Given the description of an element on the screen output the (x, y) to click on. 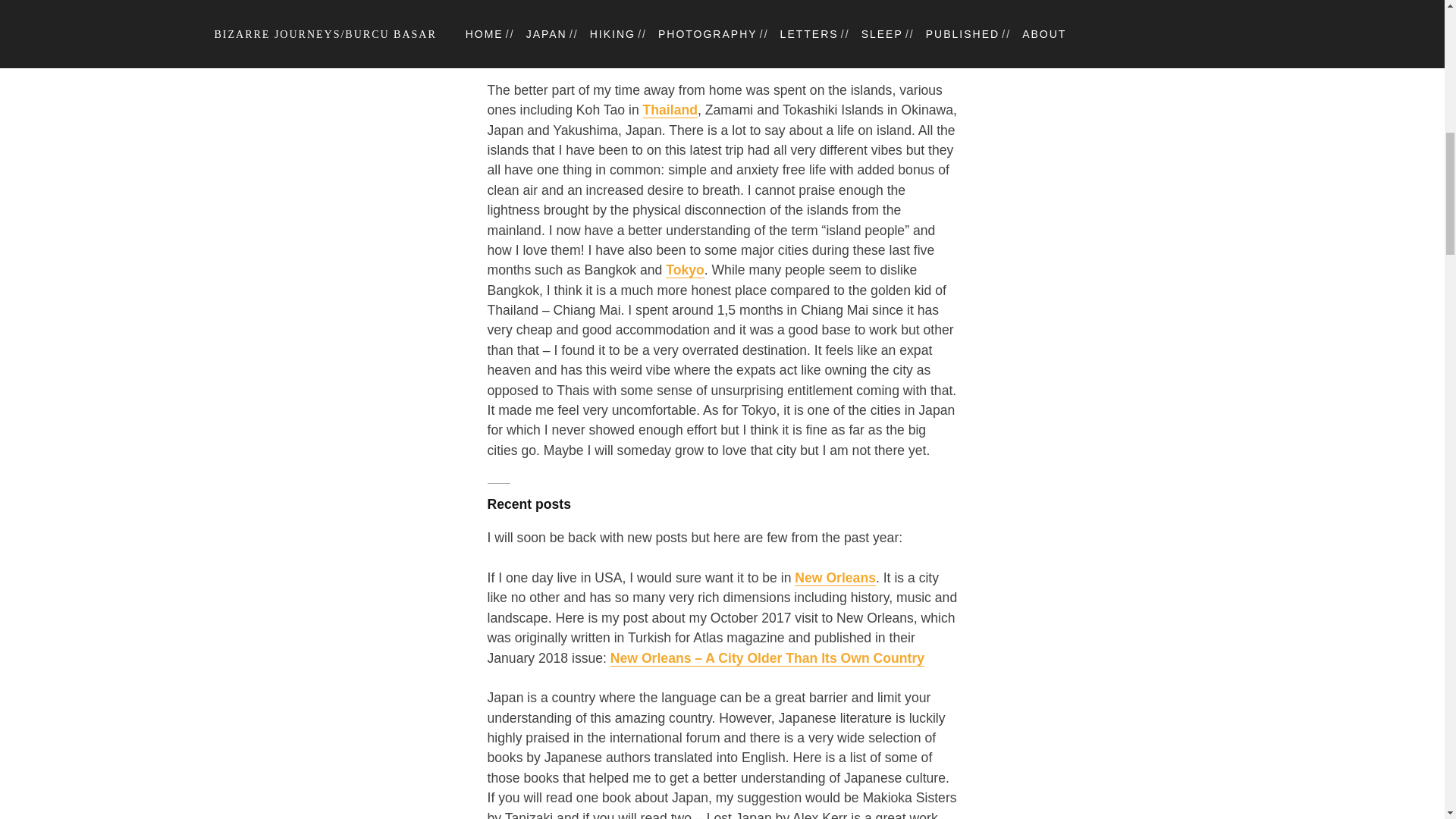
New Orleans (835, 578)
Thailand (670, 109)
Tokyo (684, 270)
